Given the description of an element on the screen output the (x, y) to click on. 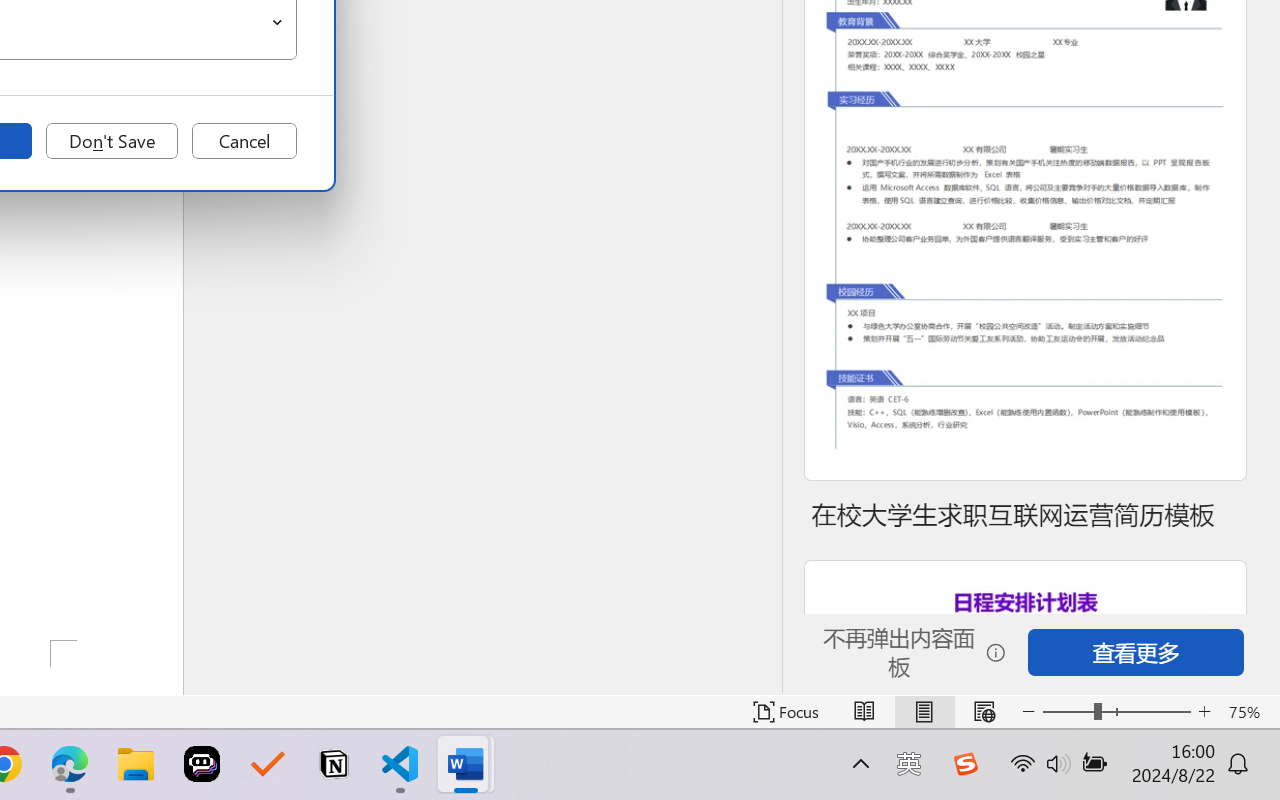
Web Layout (984, 712)
Zoom In (1204, 712)
Class: Image (965, 764)
Cancel (244, 141)
Read Mode (864, 712)
Zoom Out (1067, 712)
